Given the description of an element on the screen output the (x, y) to click on. 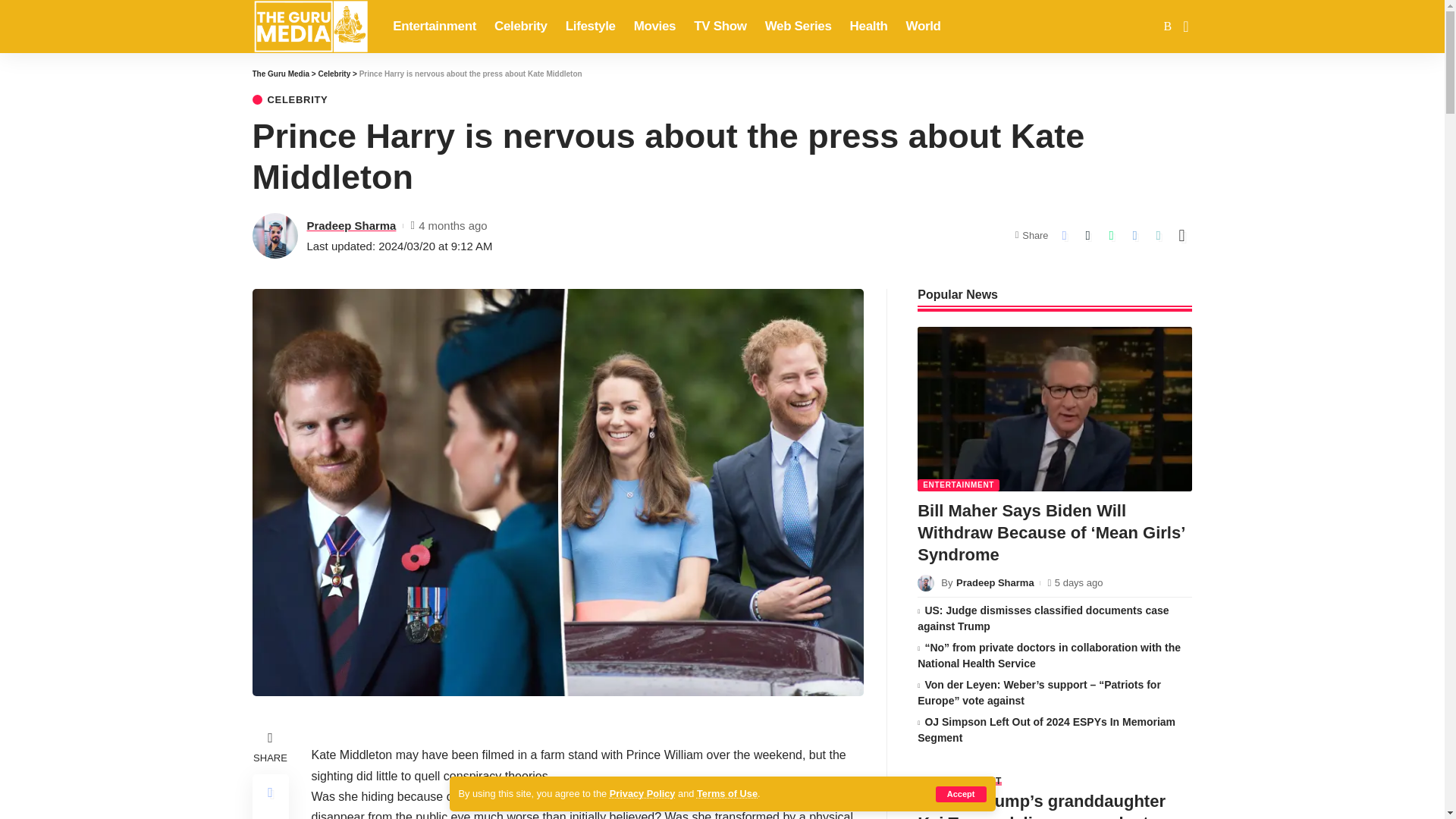
The Guru Media (309, 26)
World (923, 26)
Accept (961, 794)
Terms of Use (727, 793)
Web Series (798, 26)
Health (868, 26)
Go to The Guru Media. (279, 73)
TV Show (719, 26)
Privacy Policy (642, 793)
Celebrity (520, 26)
Go to the Celebrity Category archives. (333, 73)
Entertainment (434, 26)
Lifestyle (590, 26)
Movies (654, 26)
